Given the description of an element on the screen output the (x, y) to click on. 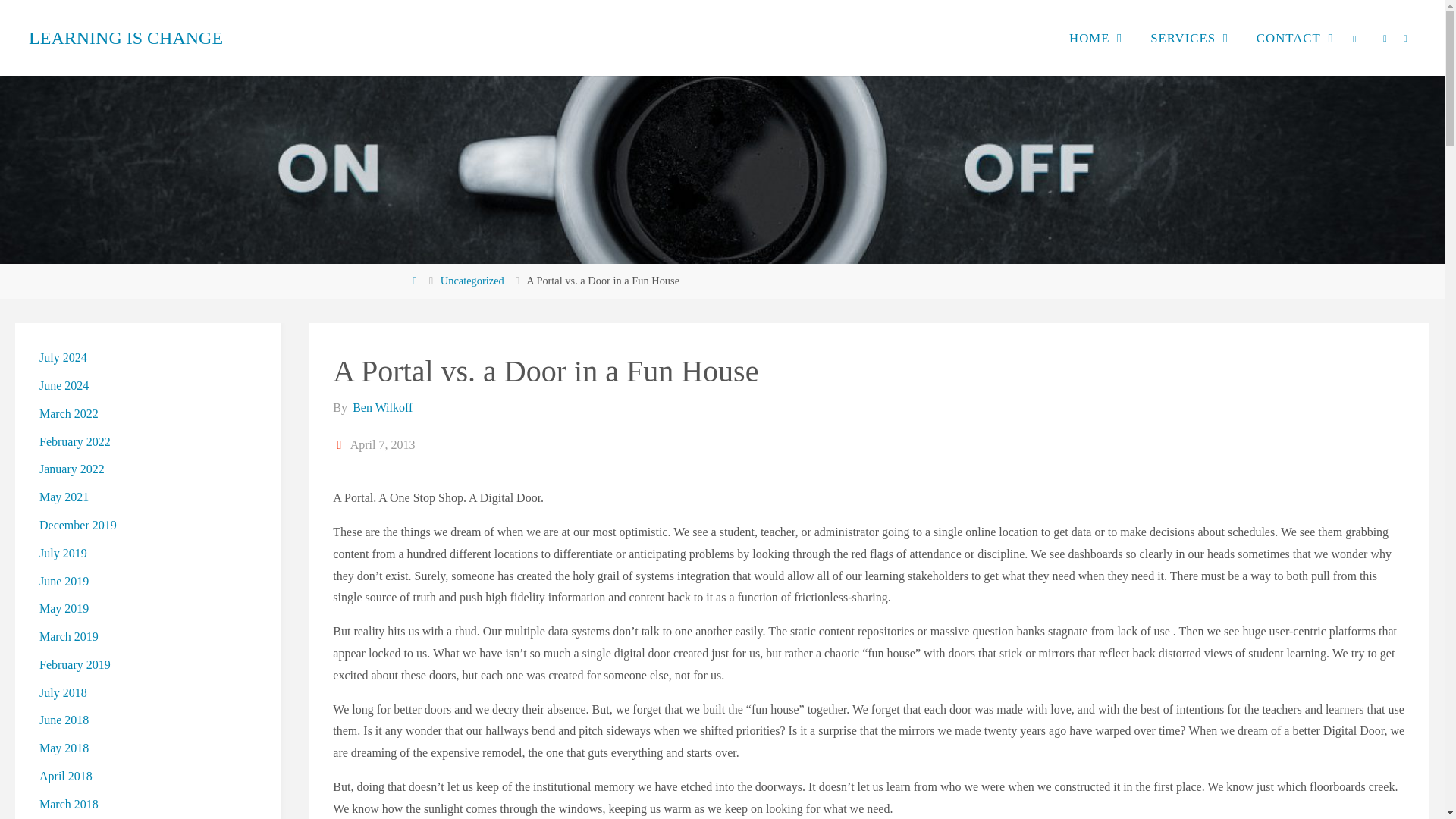
LEARNING IS CHANGE (125, 37)
My name is Ben Wilkoff, and I Teach. And Learn. A Lot. (125, 37)
HOME (1088, 38)
Date (340, 444)
View all posts by Ben Wilkoff (381, 407)
